Given the description of an element on the screen output the (x, y) to click on. 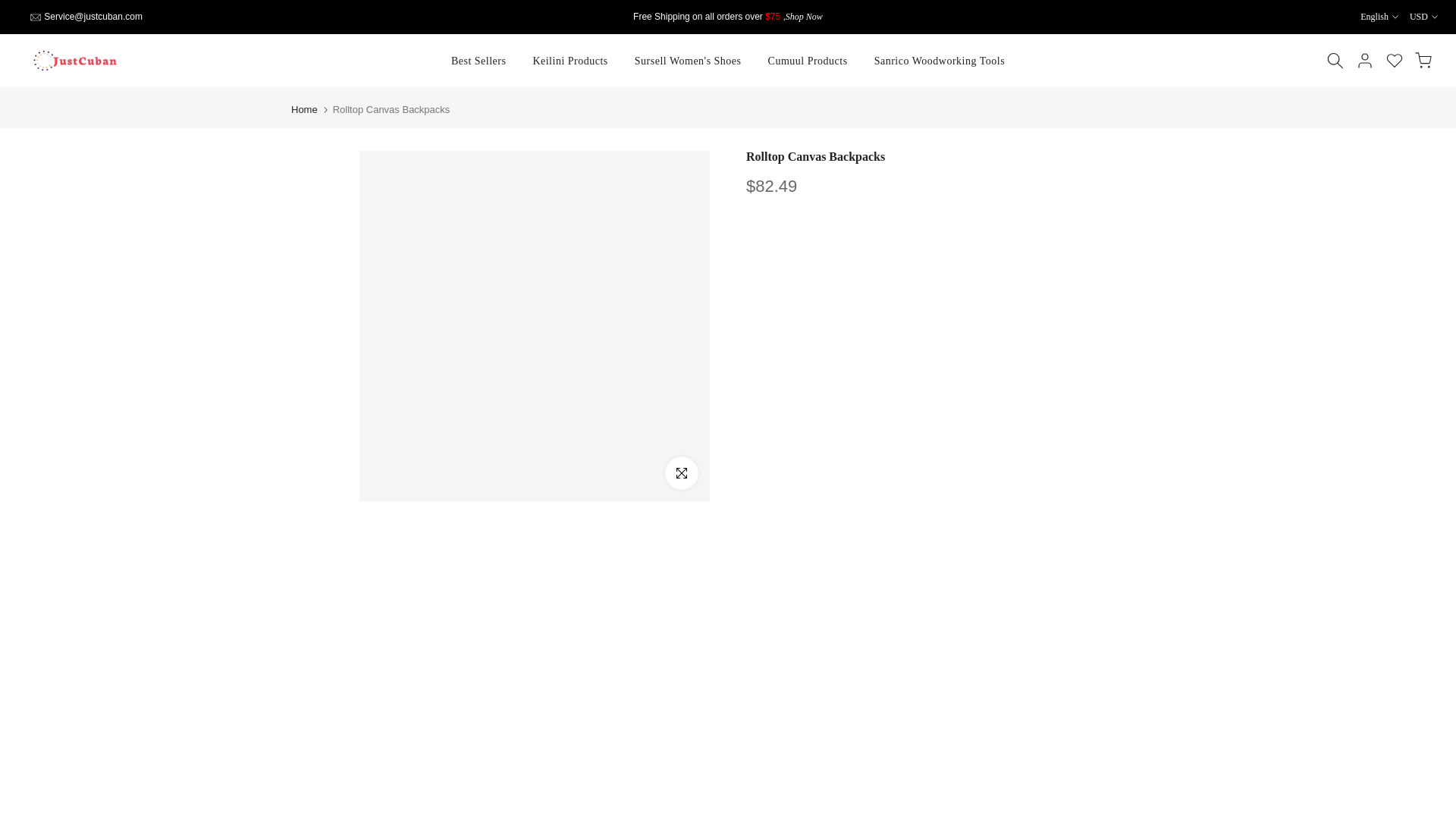
USD (1423, 16)
All collections (804, 16)
English (1378, 16)
Best Sellers (478, 61)
Sanrico Woodworking Tools (938, 61)
Keilini Products (570, 61)
Cumuul Products (807, 61)
Skip to content (10, 7)
Sursell Women's Shoes (687, 61)
Home (304, 109)
Shop Now (804, 16)
